Given the description of an element on the screen output the (x, y) to click on. 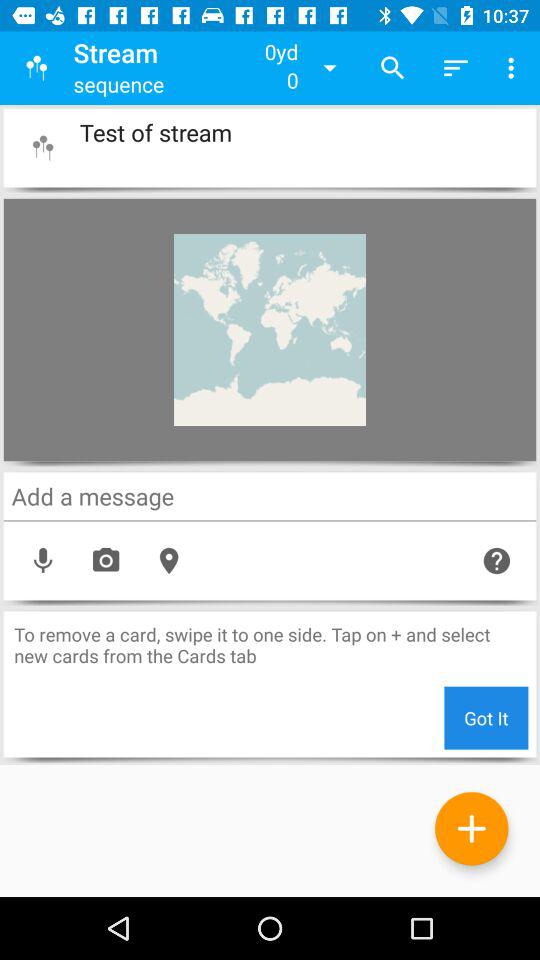
select the question mark icon (496, 561)
